Given the description of an element on the screen output the (x, y) to click on. 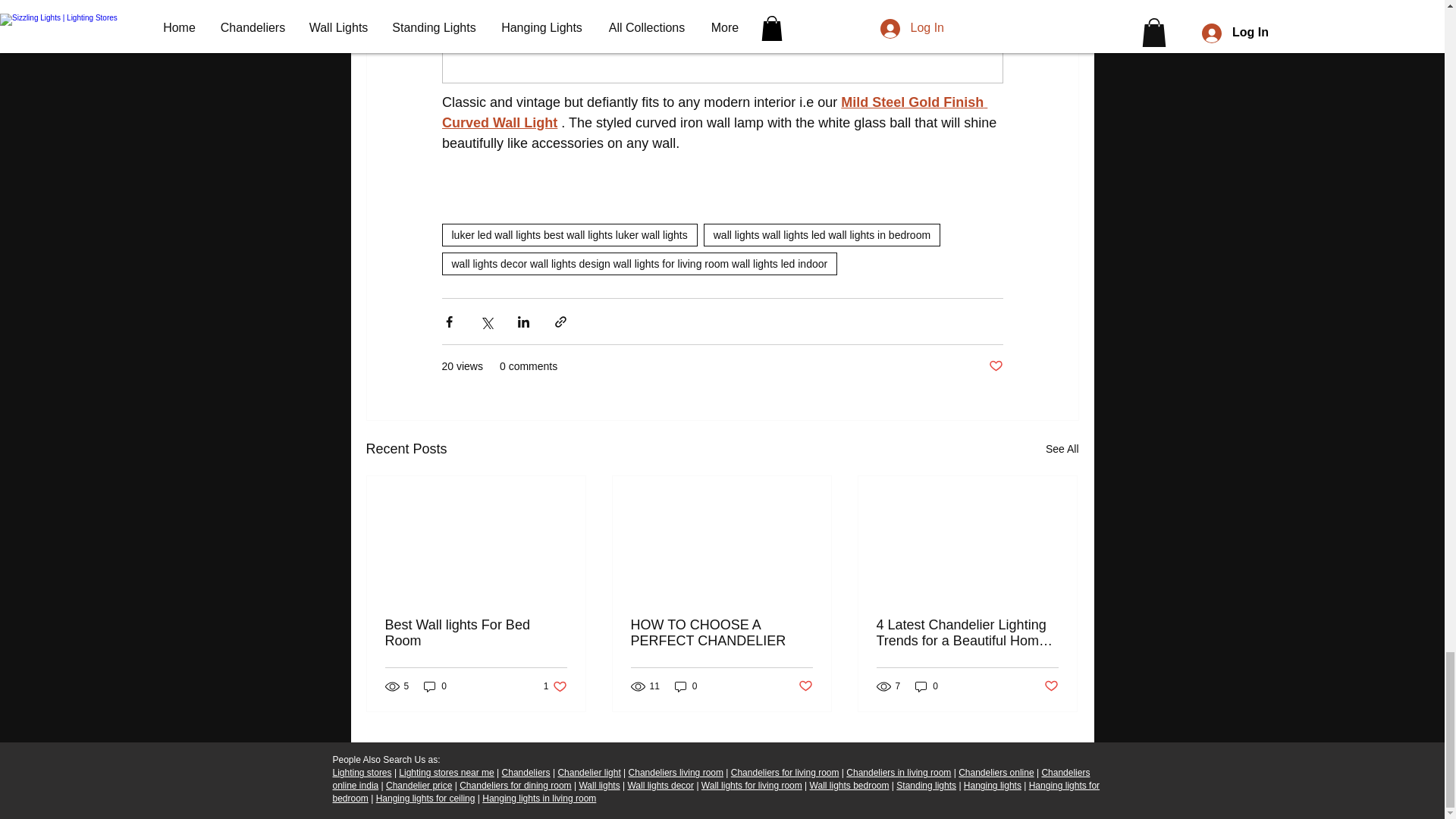
luker led wall lights best wall lights luker wall lights (569, 234)
Best Wall lights For Bed Room (476, 633)
0 (435, 686)
wall lights wall lights led wall lights in bedroom (821, 234)
Post not marked as liked (995, 366)
See All (1061, 449)
Mild Steel Gold Finish Curved Wall Light (714, 112)
